Given the description of an element on the screen output the (x, y) to click on. 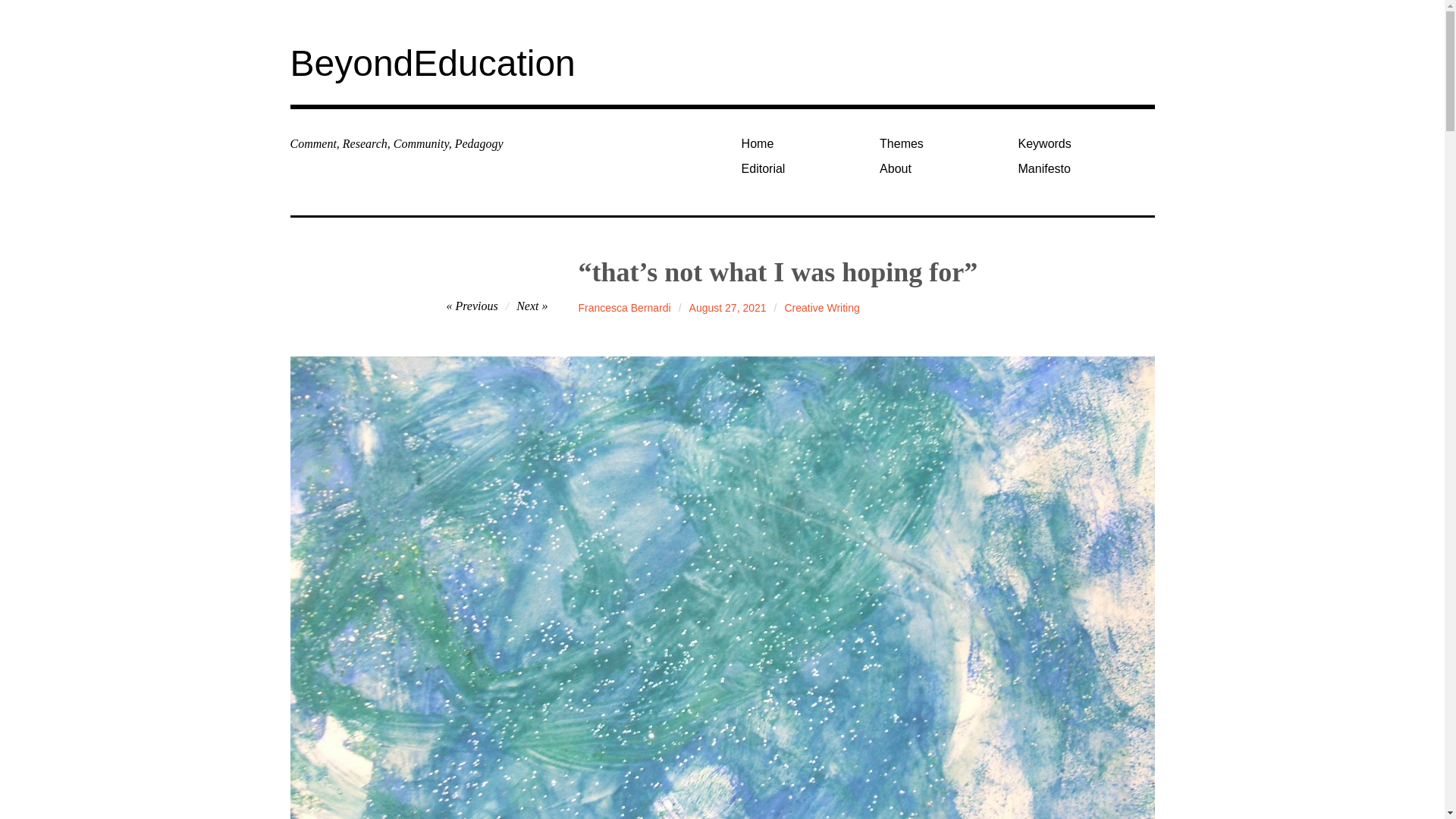
Themes (942, 143)
Editorial (804, 168)
About (942, 168)
BeyondEducation (432, 63)
Next (531, 305)
Manifesto (1080, 168)
Keywords (1080, 143)
Previous (471, 305)
Francesca Bernardi (624, 307)
August 27, 2021 (727, 307)
